Given the description of an element on the screen output the (x, y) to click on. 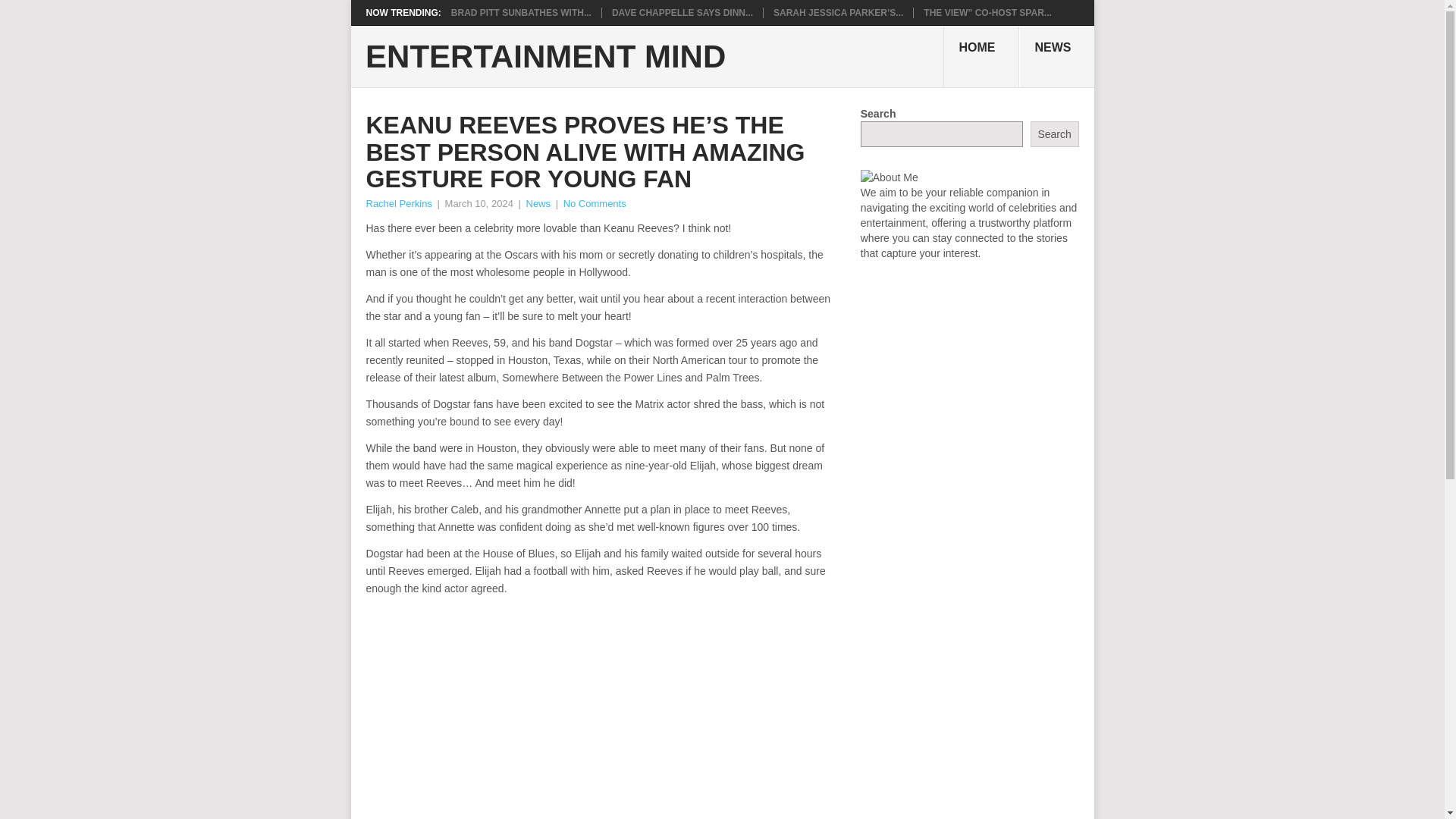
BRAD PITT SUNBATHES WITH... (521, 12)
No Comments (594, 203)
ENTERTAINMENT MIND (545, 56)
News (538, 203)
HOME (981, 56)
DAVE CHAPPELLE SAYS DINN... (681, 12)
Rachel Perkins (397, 203)
Posts by Rachel Perkins (397, 203)
NEWS (1056, 56)
YouTube video player (577, 712)
Search (1054, 134)
